Given the description of an element on the screen output the (x, y) to click on. 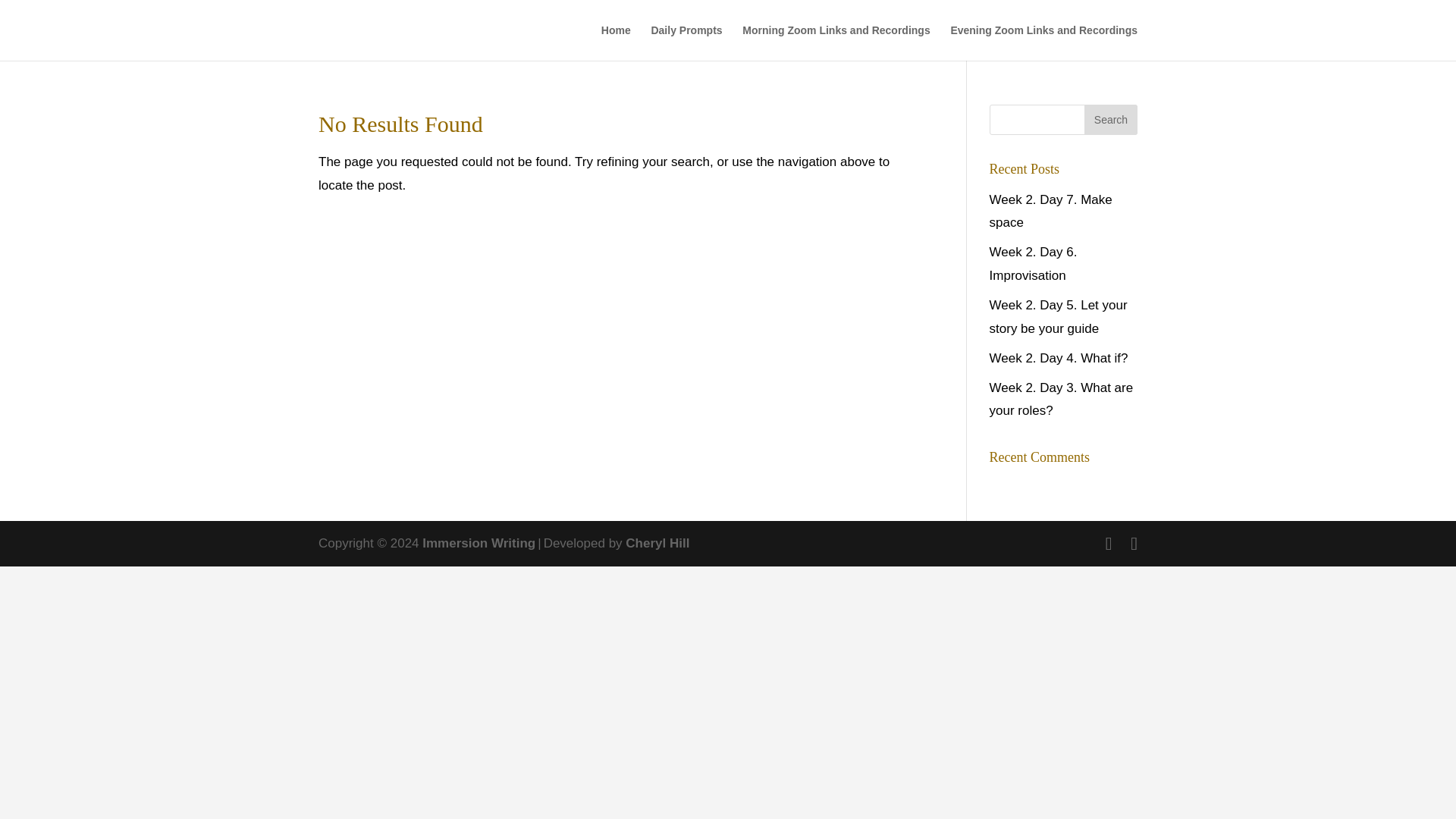
Immersion Writing (478, 543)
Week 2. Day 3. What are your roles? (1062, 399)
Morning Zoom Links and Recordings (836, 42)
Evening Zoom Links and Recordings (1043, 42)
Week 2. Day 7. Make space (1051, 211)
Cheryl Hill (657, 543)
Daily Prompts (686, 42)
Search (1110, 119)
Week 2. Day 6. Improvisation (1033, 263)
Week 2. Day 4. What if? (1059, 358)
